Given the description of an element on the screen output the (x, y) to click on. 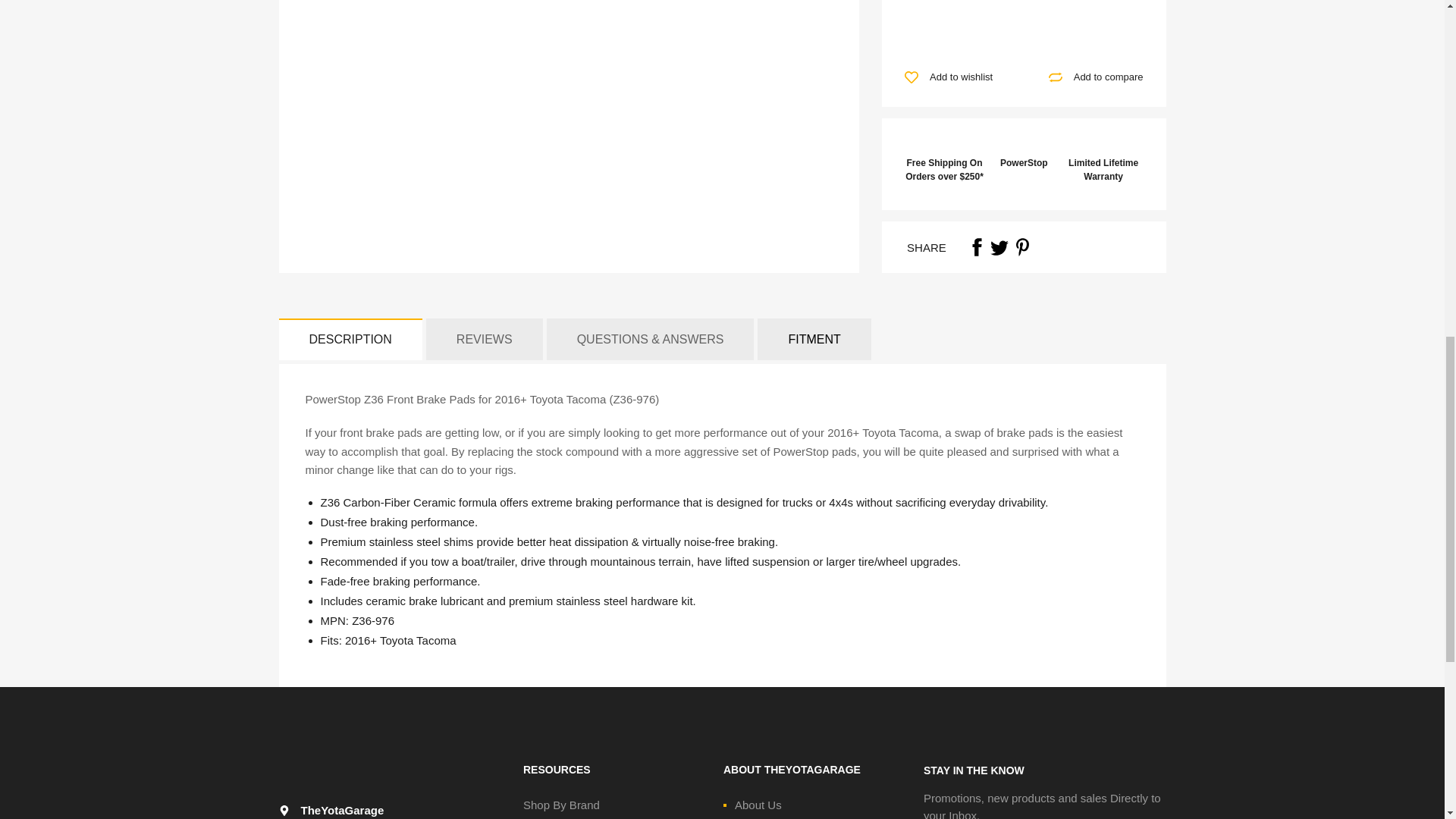
Twitter (999, 247)
Facebook (976, 247)
Pinterest (1021, 247)
